Given the description of an element on the screen output the (x, y) to click on. 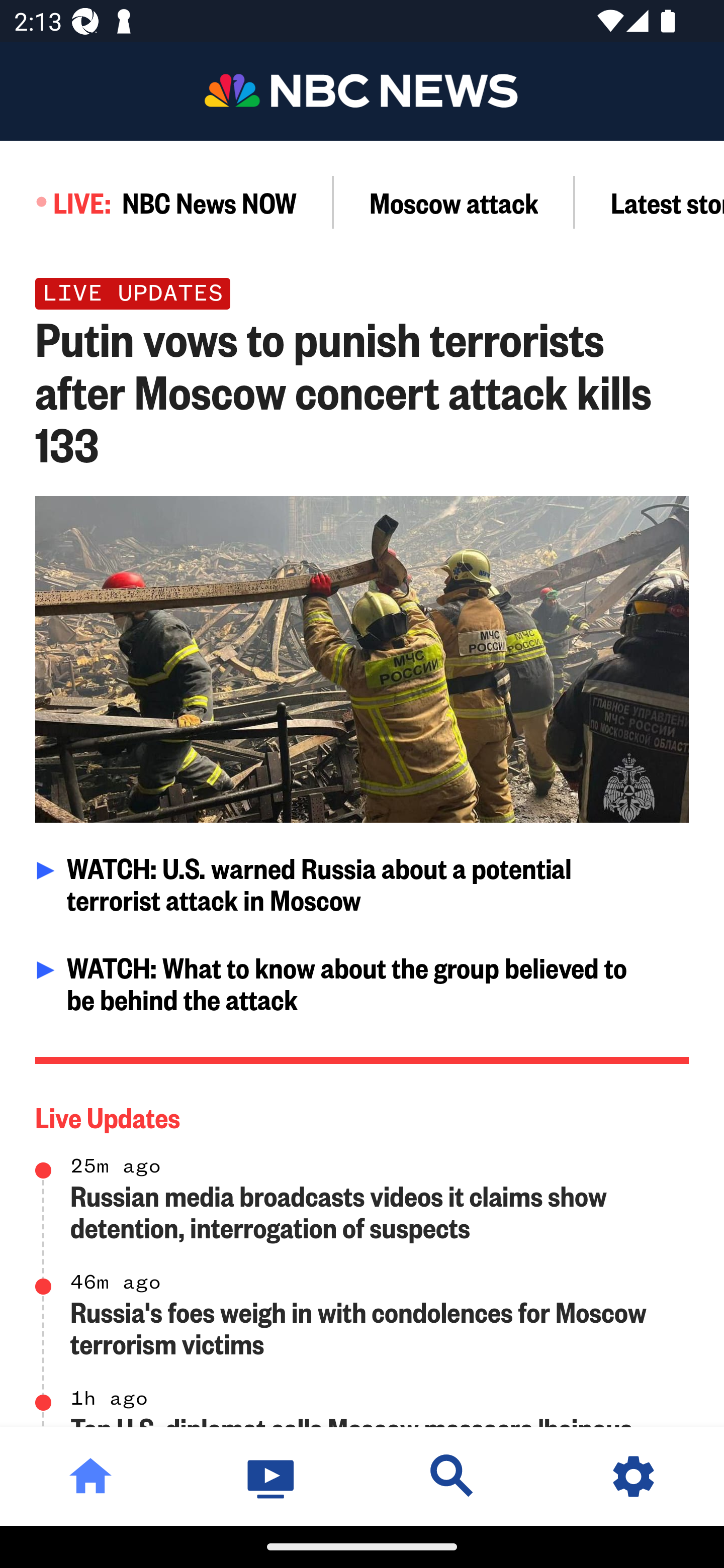
LIVE:  NBC News NOW (166, 202)
Moscow attack (453, 202)
Latest stories Section,Latest stories (649, 202)
Watch (271, 1475)
Discover (452, 1475)
Settings (633, 1475)
